Given the description of an element on the screen output the (x, y) to click on. 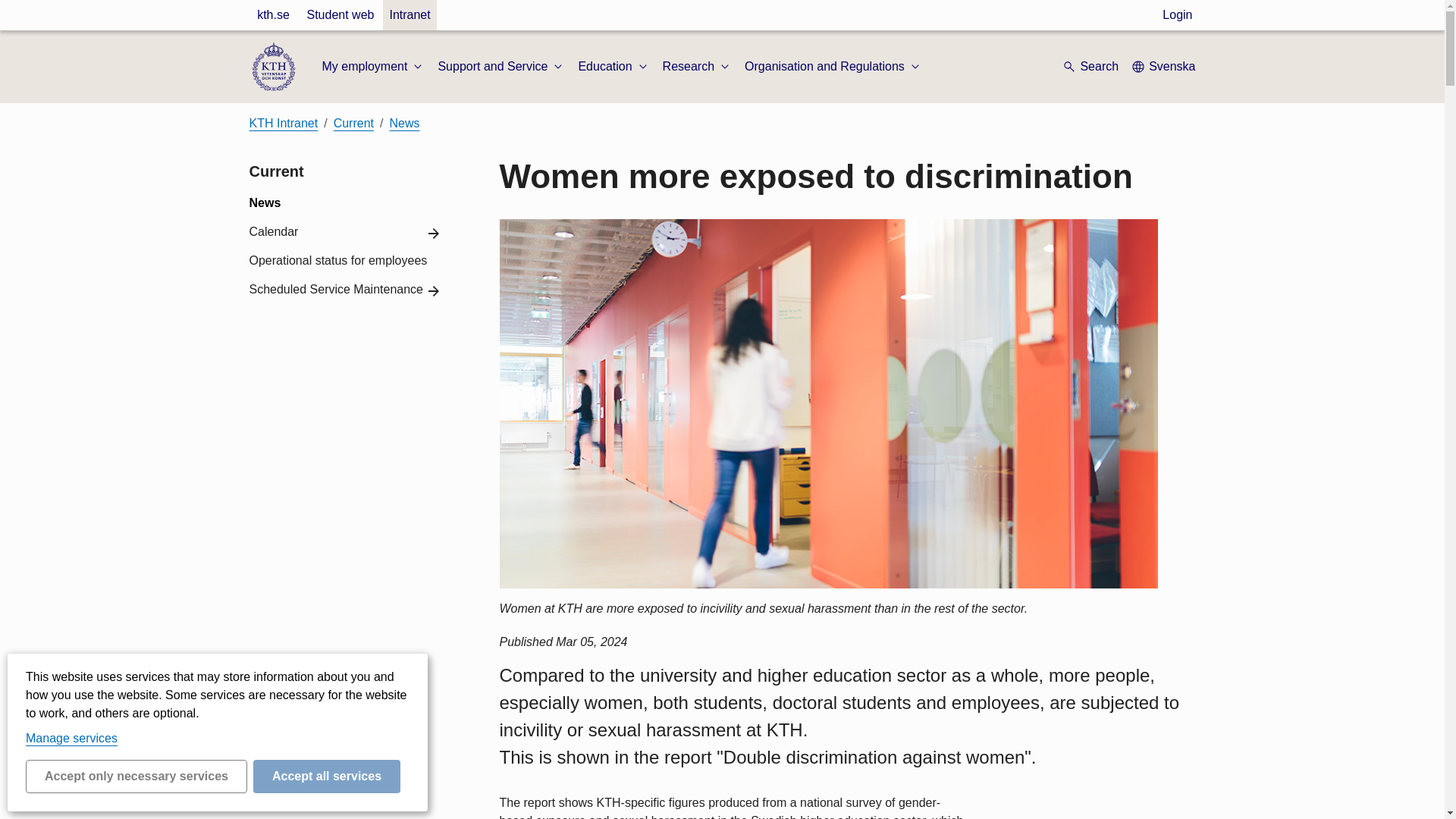
Education (613, 66)
Support and Service (502, 66)
Accept all services (326, 776)
Login (1176, 15)
Manage services (71, 738)
Research (697, 66)
Intranet (408, 15)
Accept only necessary services (136, 776)
My employment (373, 66)
Organisation and Regulations (833, 66)
Student web (339, 15)
kth.se (272, 15)
